Given the description of an element on the screen output the (x, y) to click on. 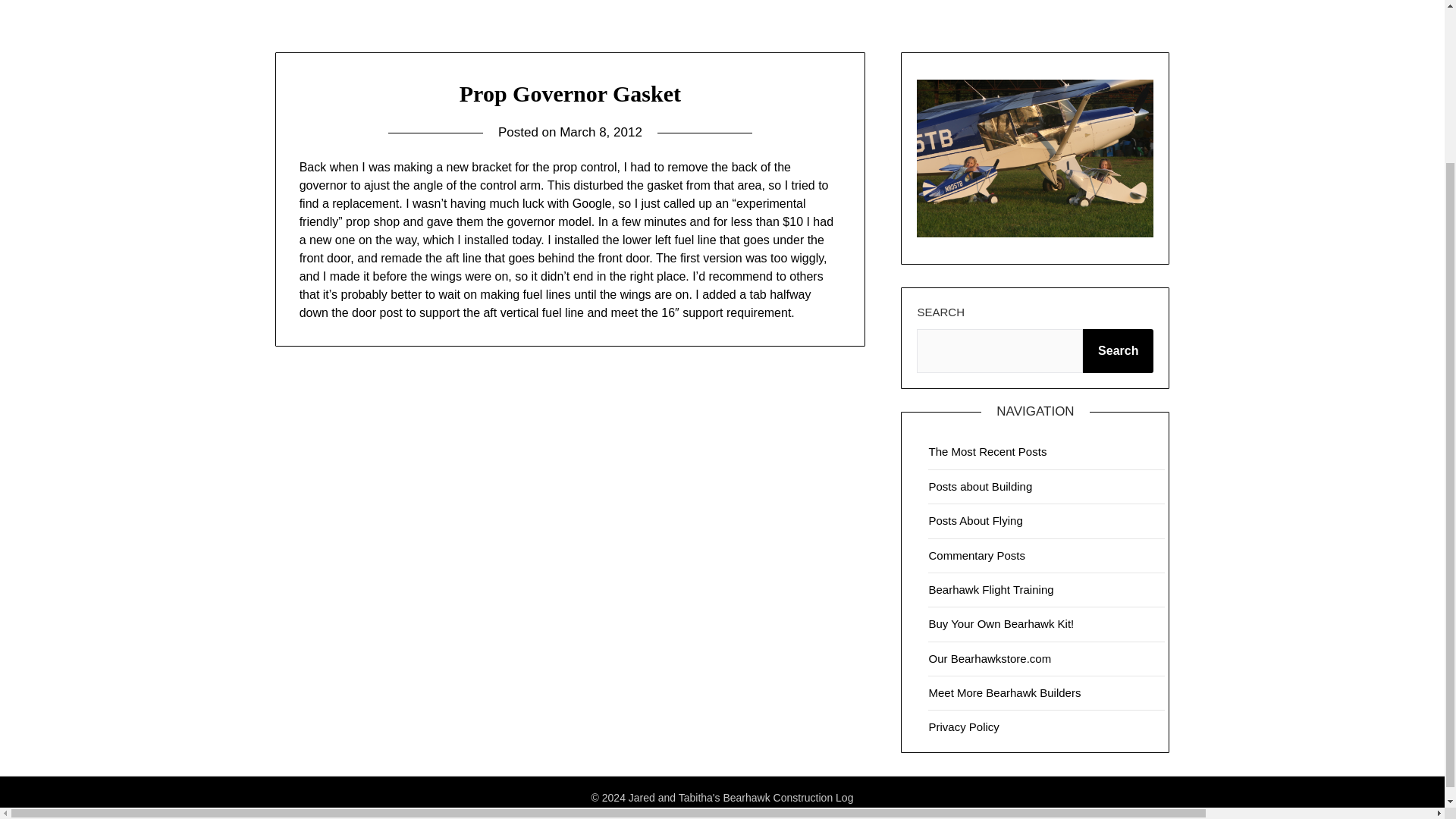
Privacy Policy (963, 726)
Buy Your Own Bearhawk Kit! (1001, 623)
Our Bearhawkstore.com (989, 658)
Bearhawk Flight Training (990, 589)
Meet More Bearhawk Builders (1004, 692)
The Most Recent Posts (987, 451)
Search (1118, 351)
March 8, 2012 (600, 132)
Posts About Flying (975, 520)
Commentary Posts (976, 554)
Posts about Building (980, 486)
